Given the description of an element on the screen output the (x, y) to click on. 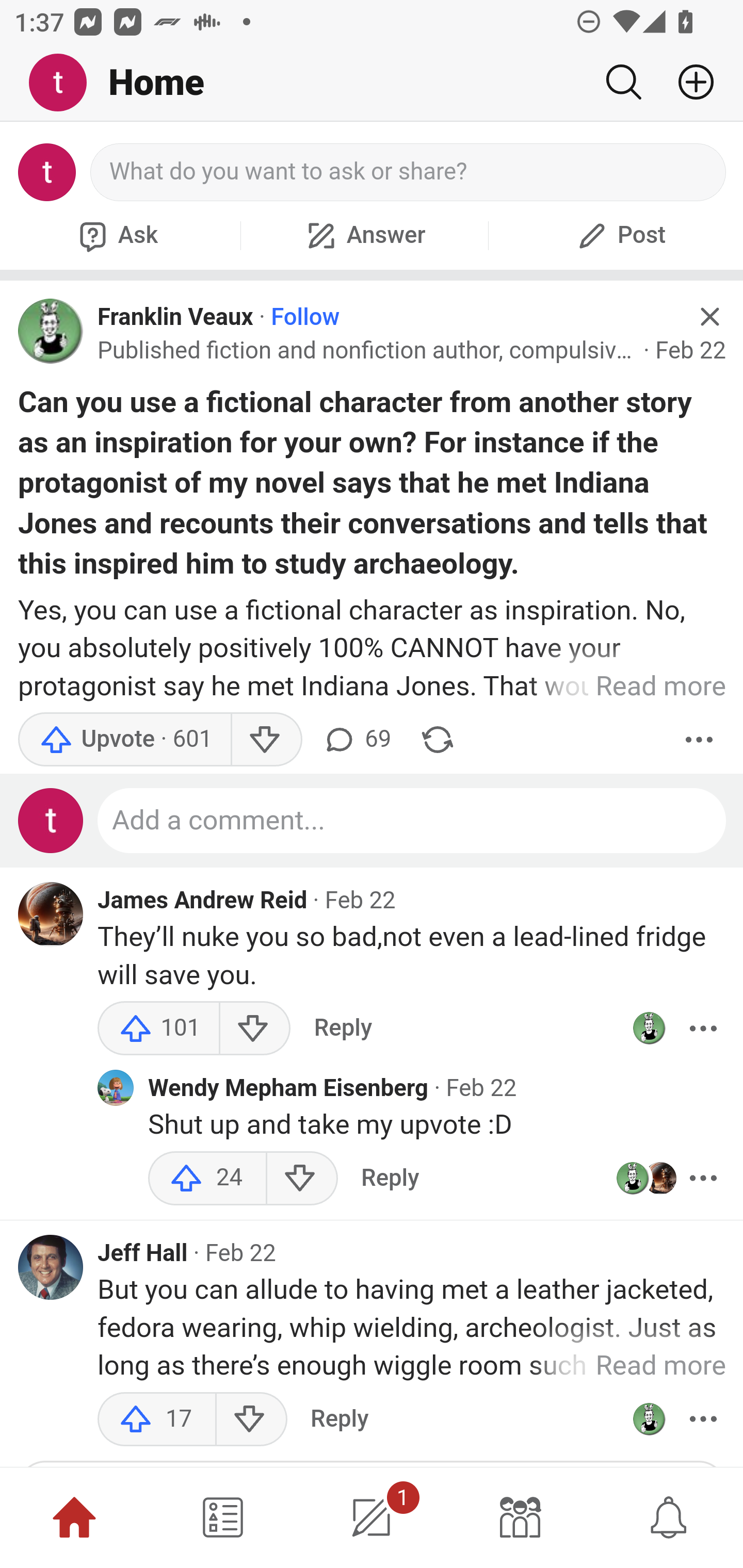
Me (64, 83)
Search (623, 82)
Add (688, 82)
What do you want to ask or share? (408, 172)
Ask (116, 234)
Answer (364, 234)
Post (618, 234)
Hide (709, 316)
Profile photo for Franklin Veaux (50, 330)
Franklin Veaux (175, 316)
Follow (306, 316)
Upvote (124, 739)
Downvote (266, 739)
69 comments (356, 739)
Share (437, 739)
More (699, 739)
Profile photo for Test Appium (50, 820)
Add a comment... (412, 820)
Profile photo for James Andrew Reid (50, 914)
James Andrew Reid (202, 899)
101 upvotes (158, 1028)
Downvote (253, 1028)
Reply (342, 1028)
Profile photo for Franklin Veaux (648, 1028)
More (703, 1028)
Profile photo for Wendy Mepham Eisenberg (115, 1088)
Wendy Mepham Eisenberg (288, 1087)
24 upvotes (207, 1177)
Downvote (302, 1177)
Reply (389, 1177)
More (703, 1177)
Profile photo for Jeff Hall (50, 1266)
Jeff Hall (143, 1253)
17 upvotes (156, 1418)
Downvote (250, 1418)
Reply (338, 1418)
Profile photo for Franklin Veaux (648, 1418)
More (703, 1418)
1 (371, 1517)
